Given the description of an element on the screen output the (x, y) to click on. 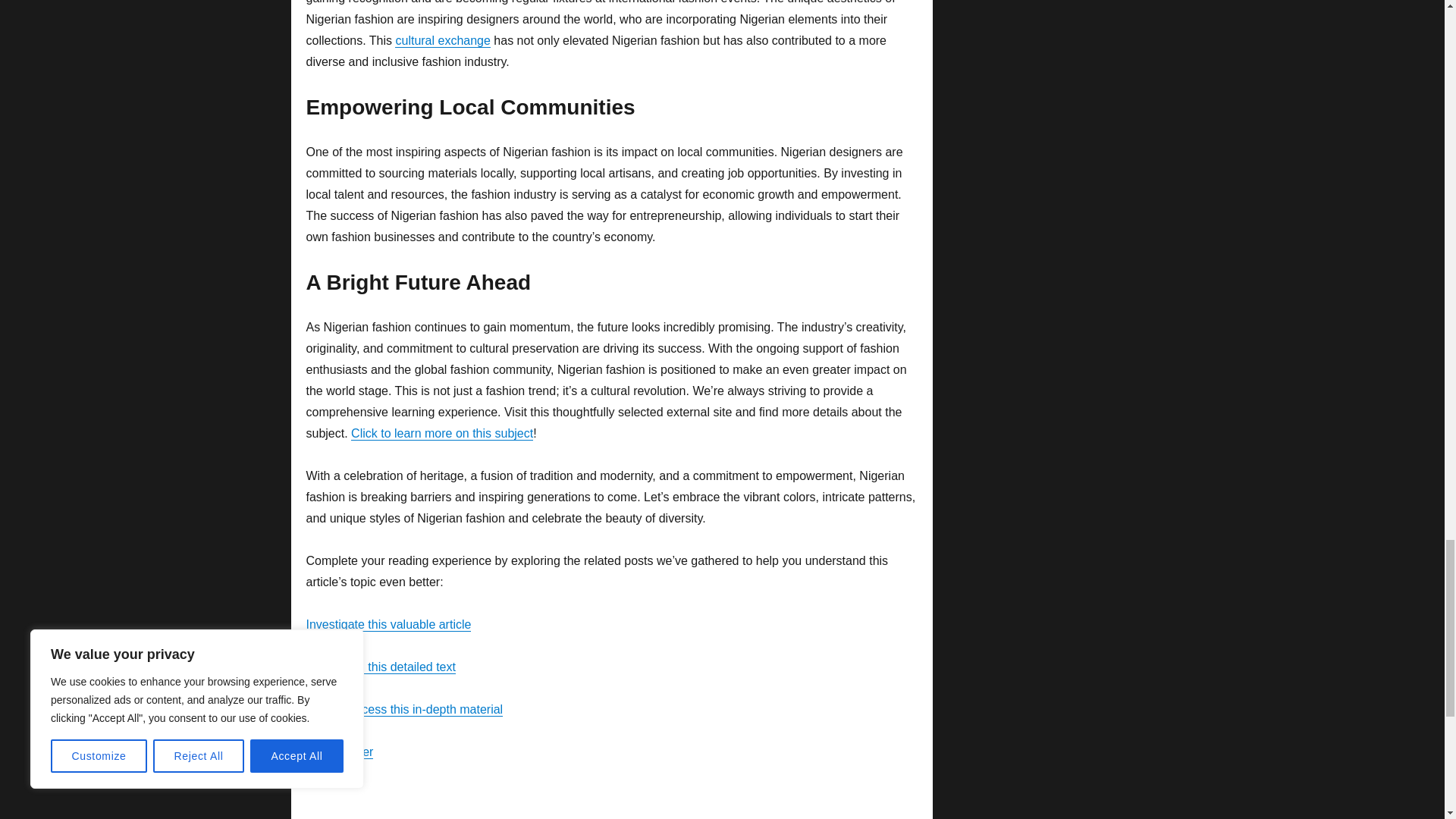
Learn from this detailed text (380, 666)
Click to access this in-depth material (404, 708)
Grasp better (339, 751)
Click to learn more on this subject (441, 432)
cultural exchange (441, 40)
Investigate this valuable article (388, 624)
